Given the description of an element on the screen output the (x, y) to click on. 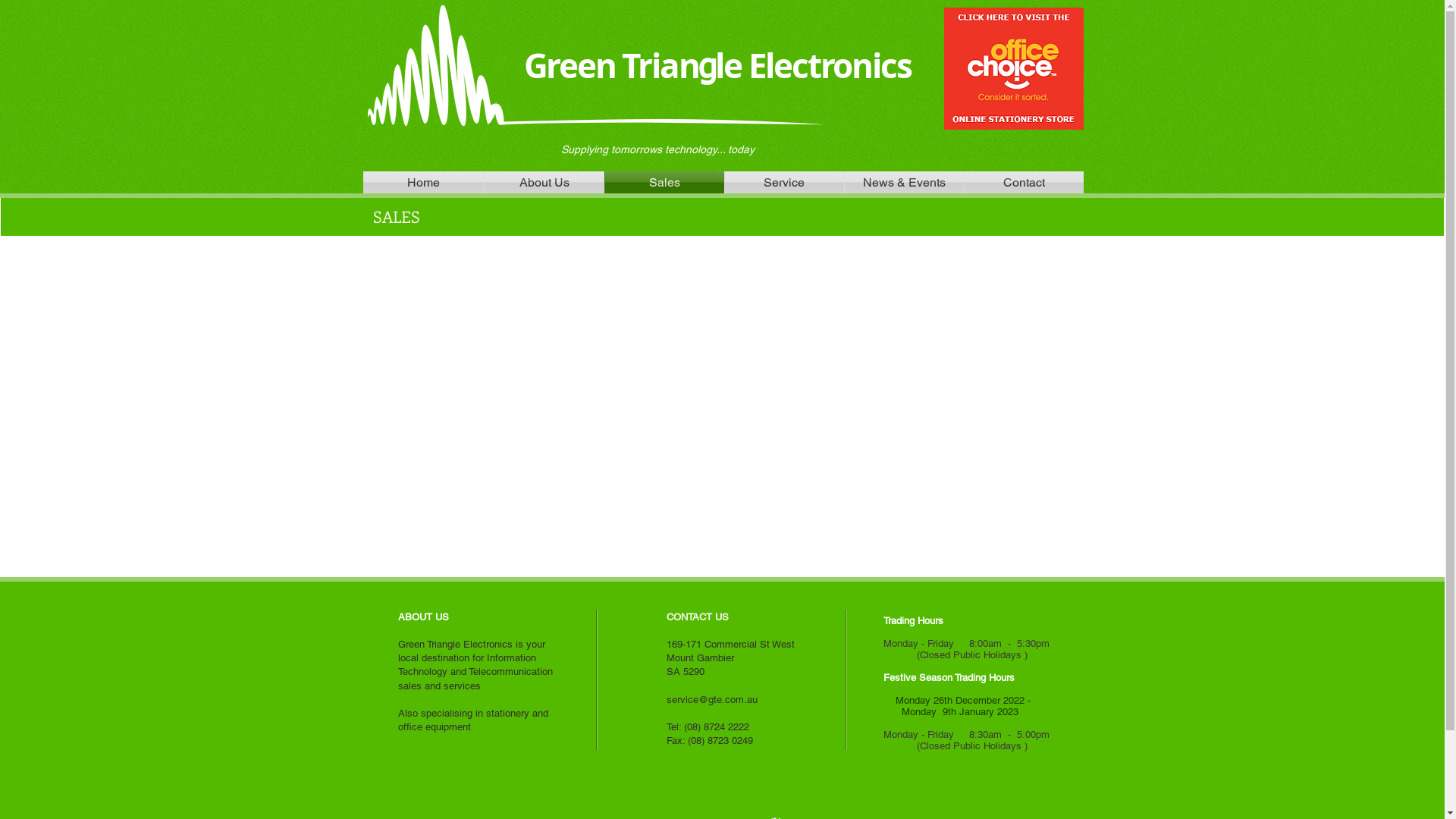
Sales Element type: text (664, 182)
About Us Element type: text (543, 182)
Contact Element type: text (1023, 182)
Service Element type: text (784, 182)
oc_logo_new.png Element type: hover (1012, 67)
News & Events Element type: text (903, 182)
path3392.png Element type: hover (594, 65)
service@gte.com.au Element type: text (710, 699)
Home Element type: text (422, 182)
